Given the description of an element on the screen output the (x, y) to click on. 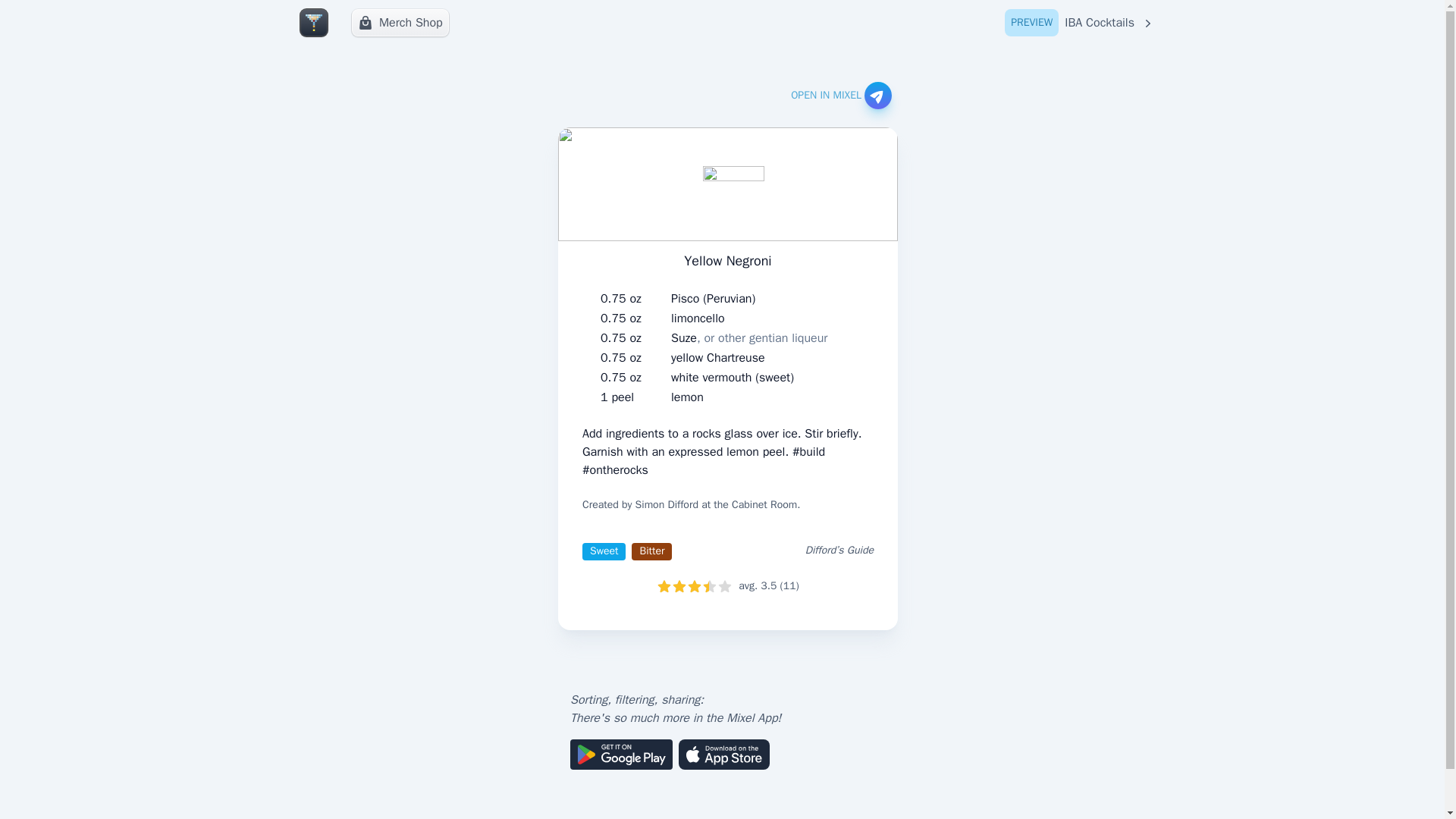
lemon (1079, 22)
Privacy Policy (687, 397)
OPEN IN MIXEL (698, 318)
yellow Chartreuse (840, 94)
Content Policy (718, 357)
Suze, or other gentian liqueur (400, 22)
